Given the description of an element on the screen output the (x, y) to click on. 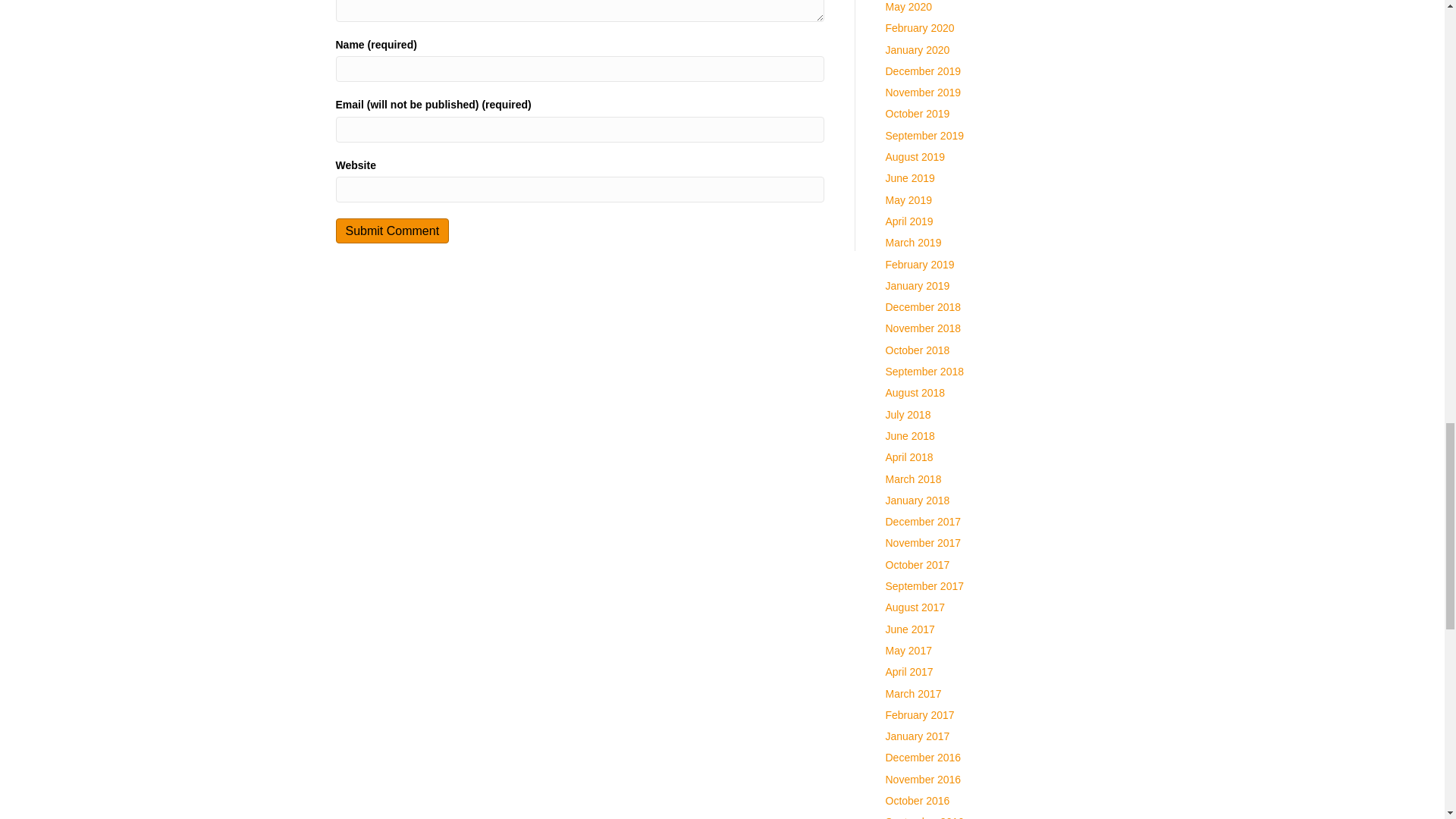
Submit Comment (391, 230)
